Given the description of an element on the screen output the (x, y) to click on. 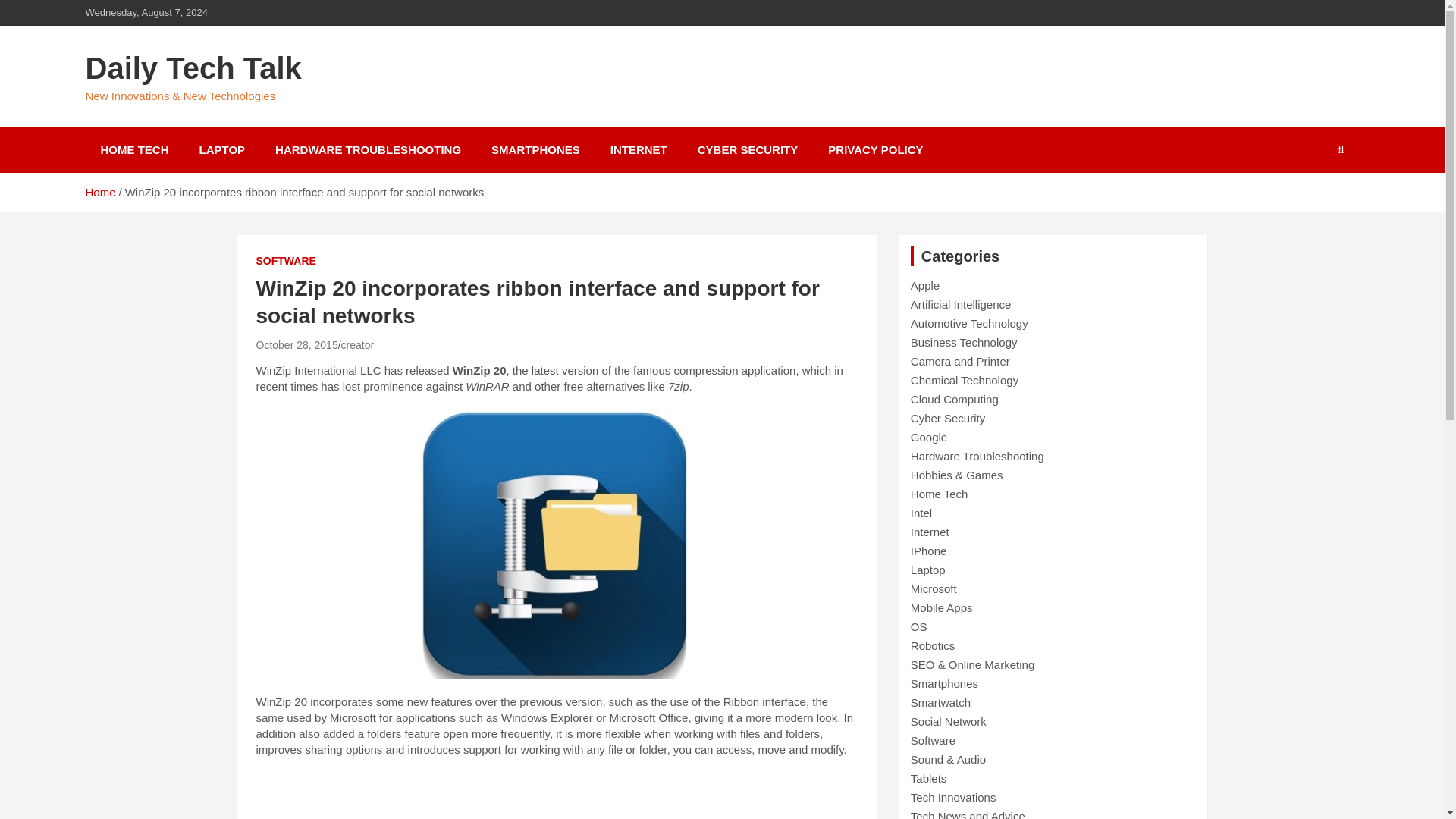
Cloud Computing (954, 399)
HOME TECH (133, 149)
Daily Tech Talk (192, 68)
PRIVACY POLICY (874, 149)
Apple (925, 285)
Home Tech (939, 493)
October 28, 2015 (296, 345)
Artificial Intelligence (961, 304)
IPhone (929, 550)
HARDWARE TROUBLESHOOTING (368, 149)
Mobile Apps (941, 607)
Google (929, 436)
INTERNET (638, 149)
Business Technology (964, 341)
